Given the description of an element on the screen output the (x, y) to click on. 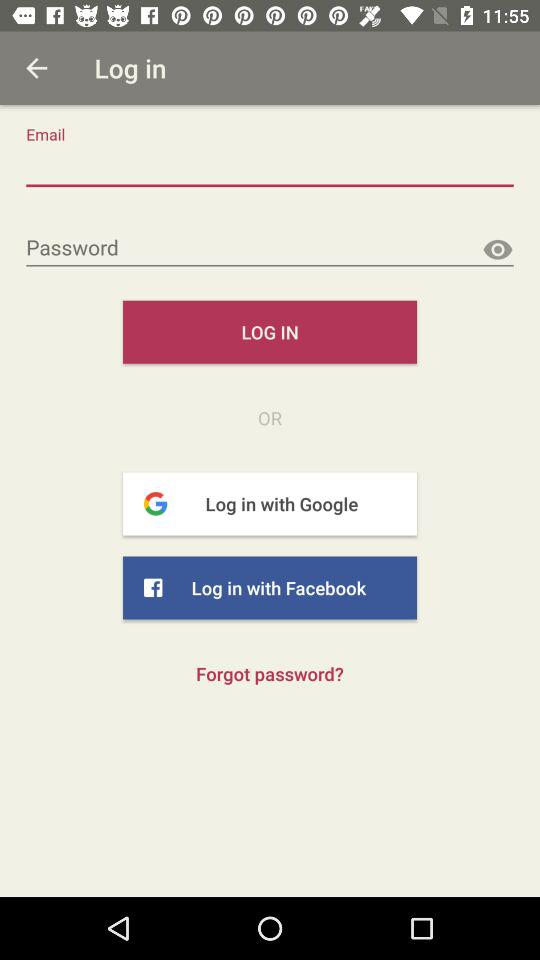
go to previous (36, 68)
